Given the description of an element on the screen output the (x, y) to click on. 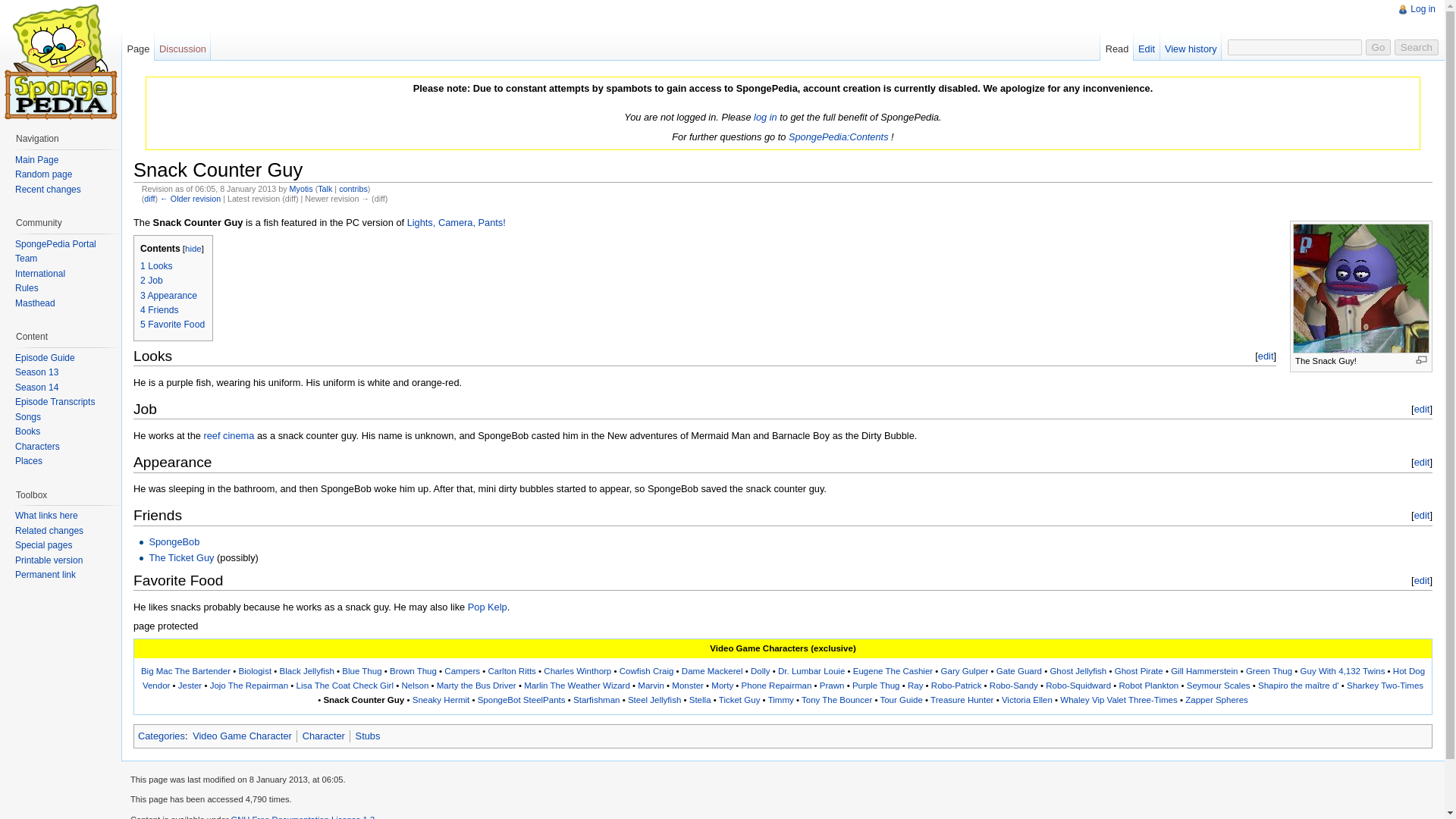
SpongePedia:Contents (838, 136)
Lights, Camera, Pants! (456, 222)
Black Jellyfish (306, 670)
Lights, Camera, Pants! (456, 222)
Big Mac The Bartender (185, 670)
hide (193, 248)
Cowfish Craig (647, 670)
contribs (353, 188)
SpongePedia:Contents (838, 136)
edit (1421, 461)
